Given the description of an element on the screen output the (x, y) to click on. 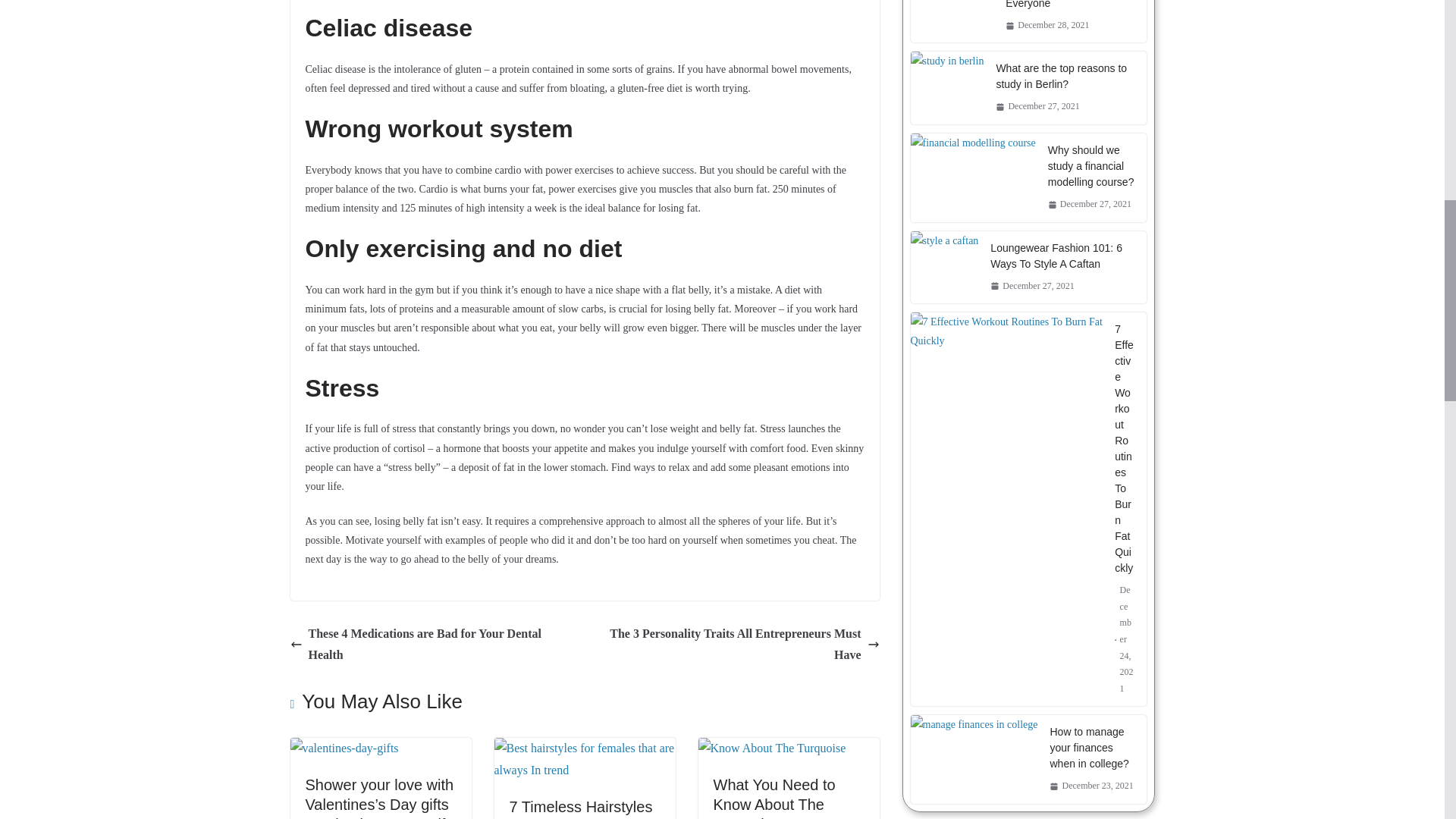
The 3 Personality Traits All Entrepreneurs Must Have (735, 645)
These 4 Medications are Bad for Your Dental Health (432, 645)
